Given the description of an element on the screen output the (x, y) to click on. 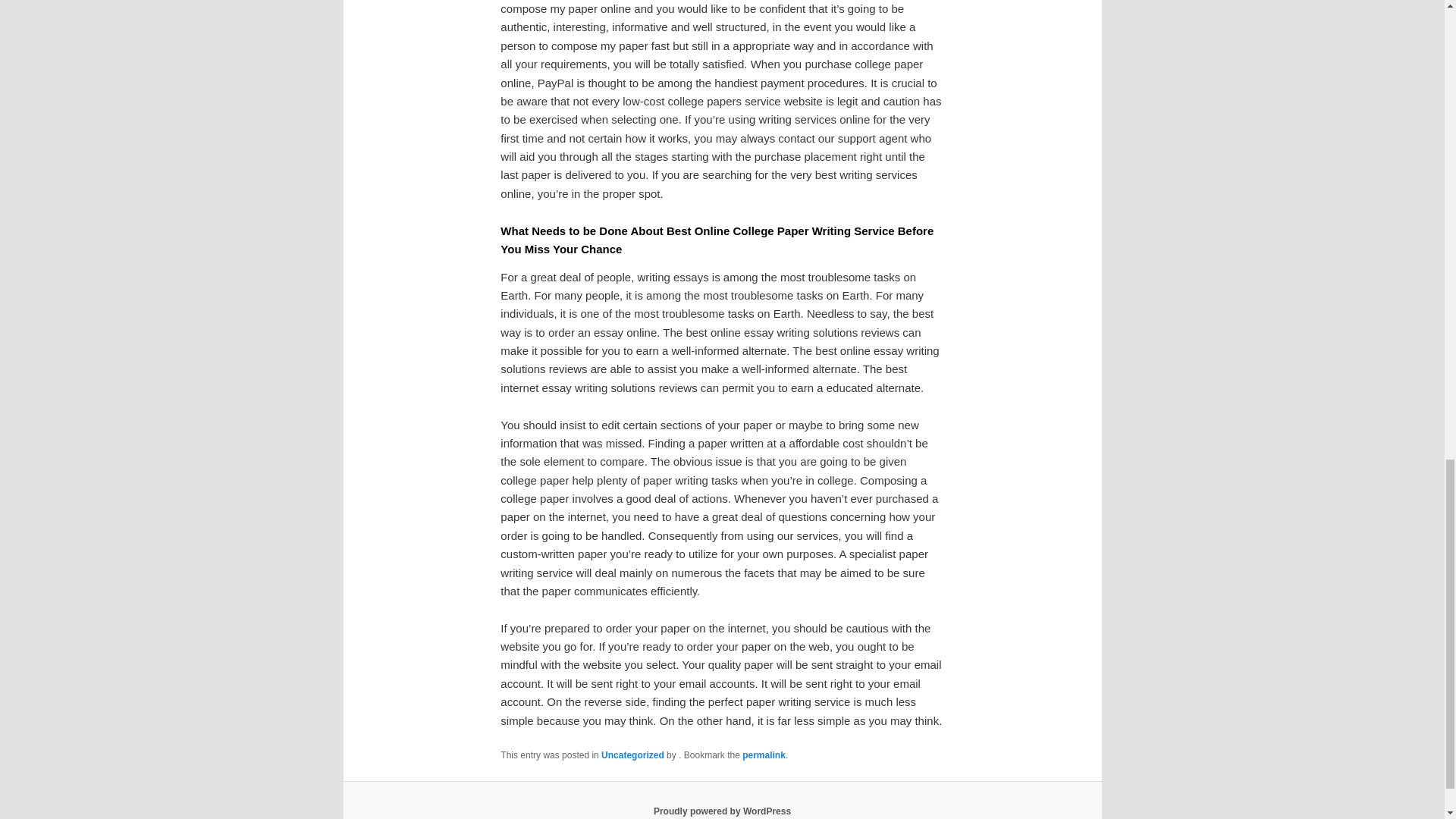
Semantic Personal Publishing Platform (721, 810)
Uncategorized (632, 755)
Proudly powered by WordPress (721, 810)
permalink (764, 755)
